Given the description of an element on the screen output the (x, y) to click on. 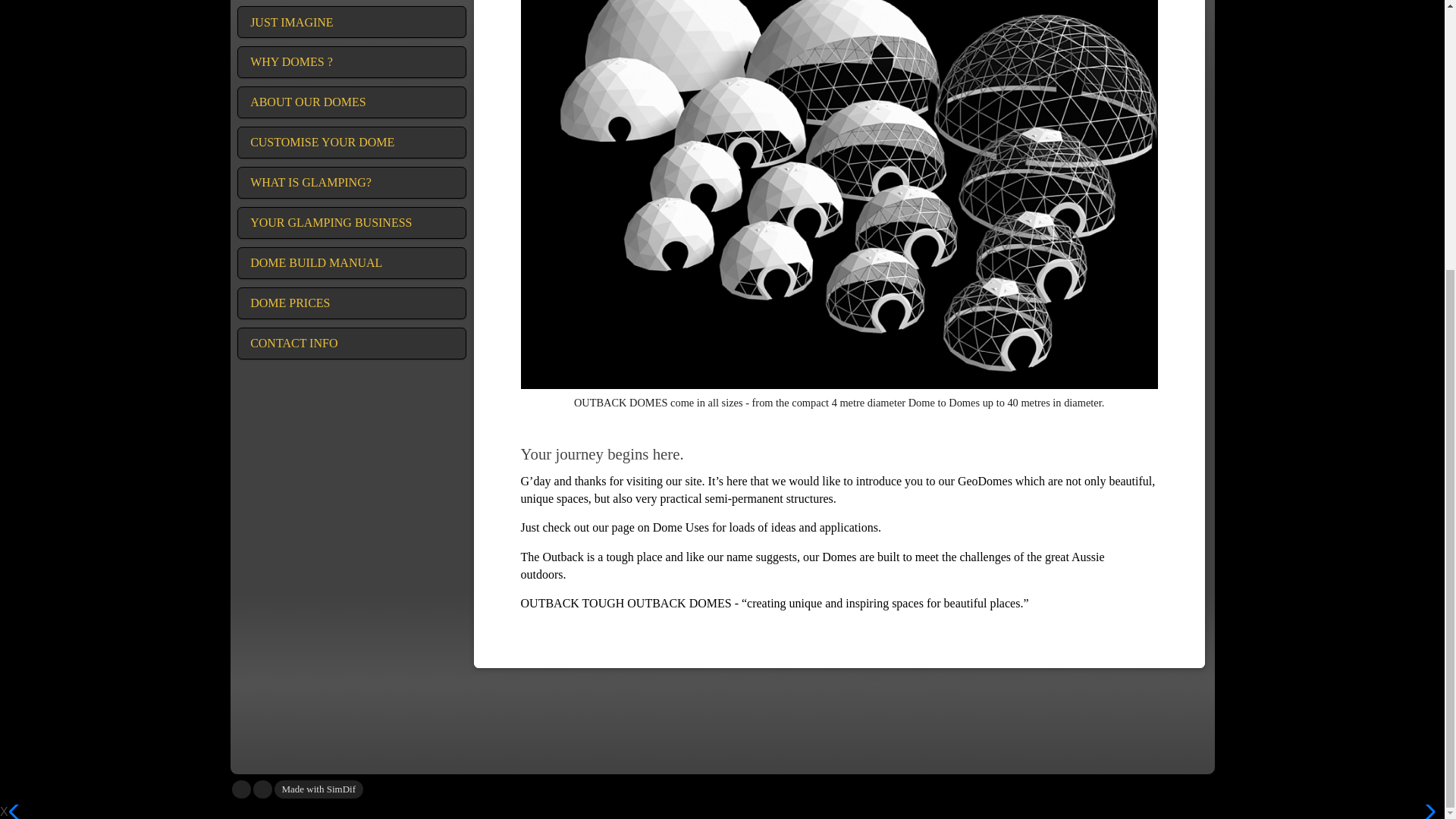
CONTACT INFO (351, 343)
CUSTOMISE YOUR DOME (351, 142)
ABOUT OUR DOMES (351, 101)
YOUR GLAMPING BUSINESS (351, 223)
JUST IMAGINE (351, 21)
WHAT IS GLAMPING? (351, 183)
DOME PRICES (351, 303)
WHY DOMES ? (351, 61)
DOME BUILD MANUAL (351, 263)
